Given the description of an element on the screen output the (x, y) to click on. 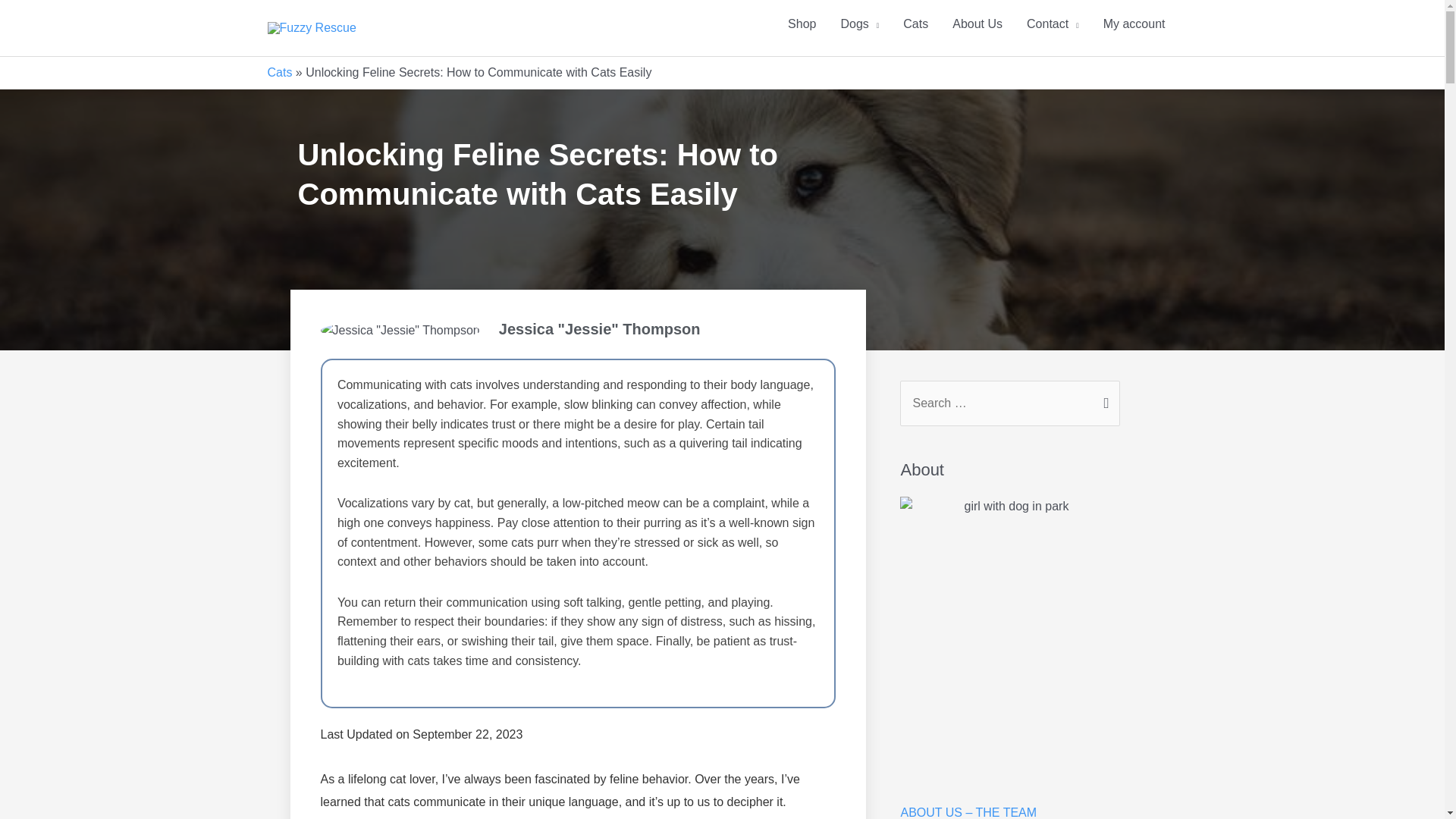
My account (1133, 24)
Search (1102, 401)
About Us (977, 24)
Dogs (859, 24)
Shop (802, 24)
Cats (915, 24)
Cats (279, 72)
Search (1102, 401)
Contact (1052, 24)
